Given the description of an element on the screen output the (x, y) to click on. 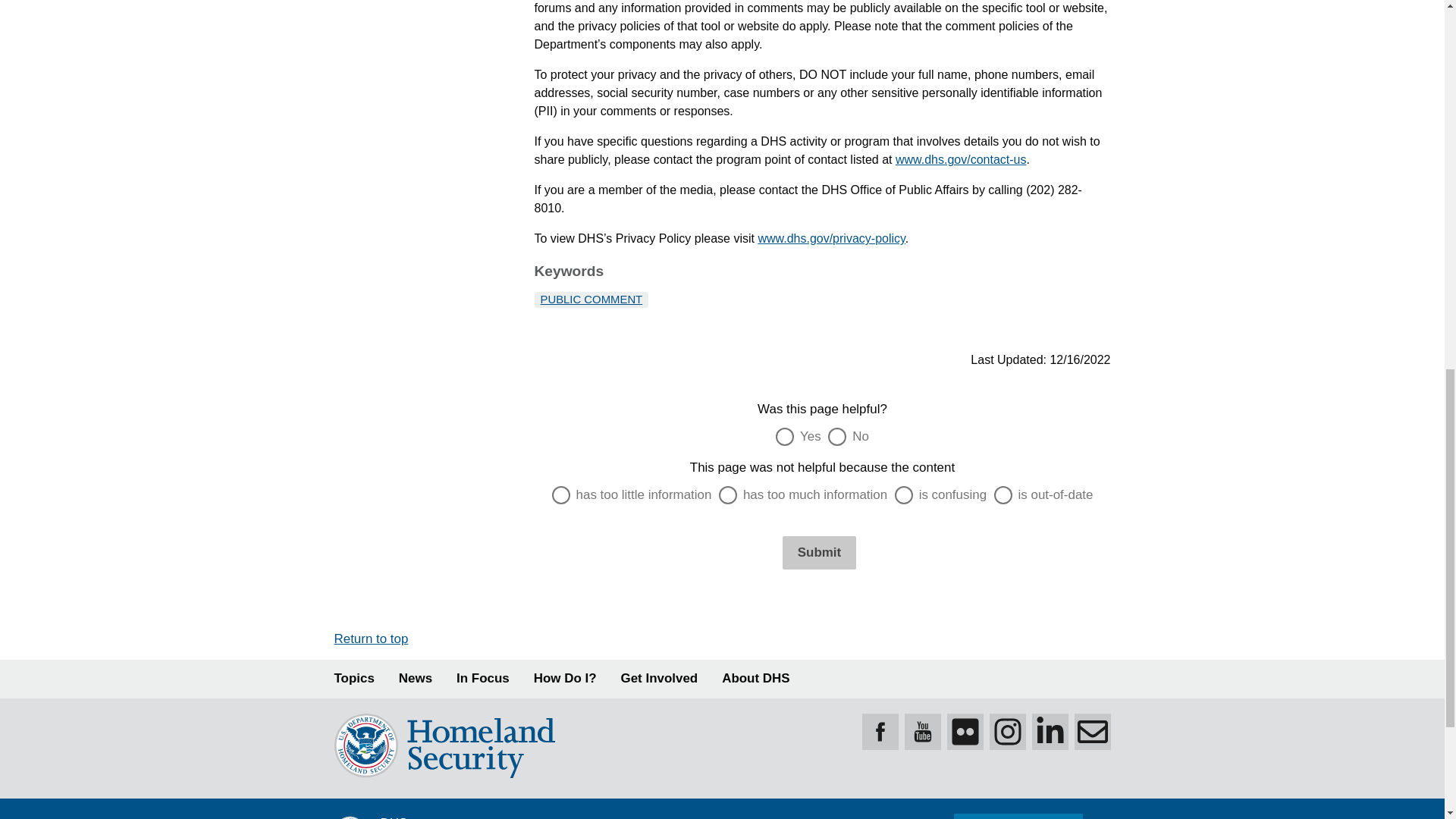
Get Involved (659, 679)
PUBLIC COMMENT (591, 299)
Return to top (370, 638)
Submit (819, 552)
National Terrorism Advisory System (1018, 816)
Submit (819, 552)
Submit (819, 552)
Topics (353, 679)
